Given the description of an element on the screen output the (x, y) to click on. 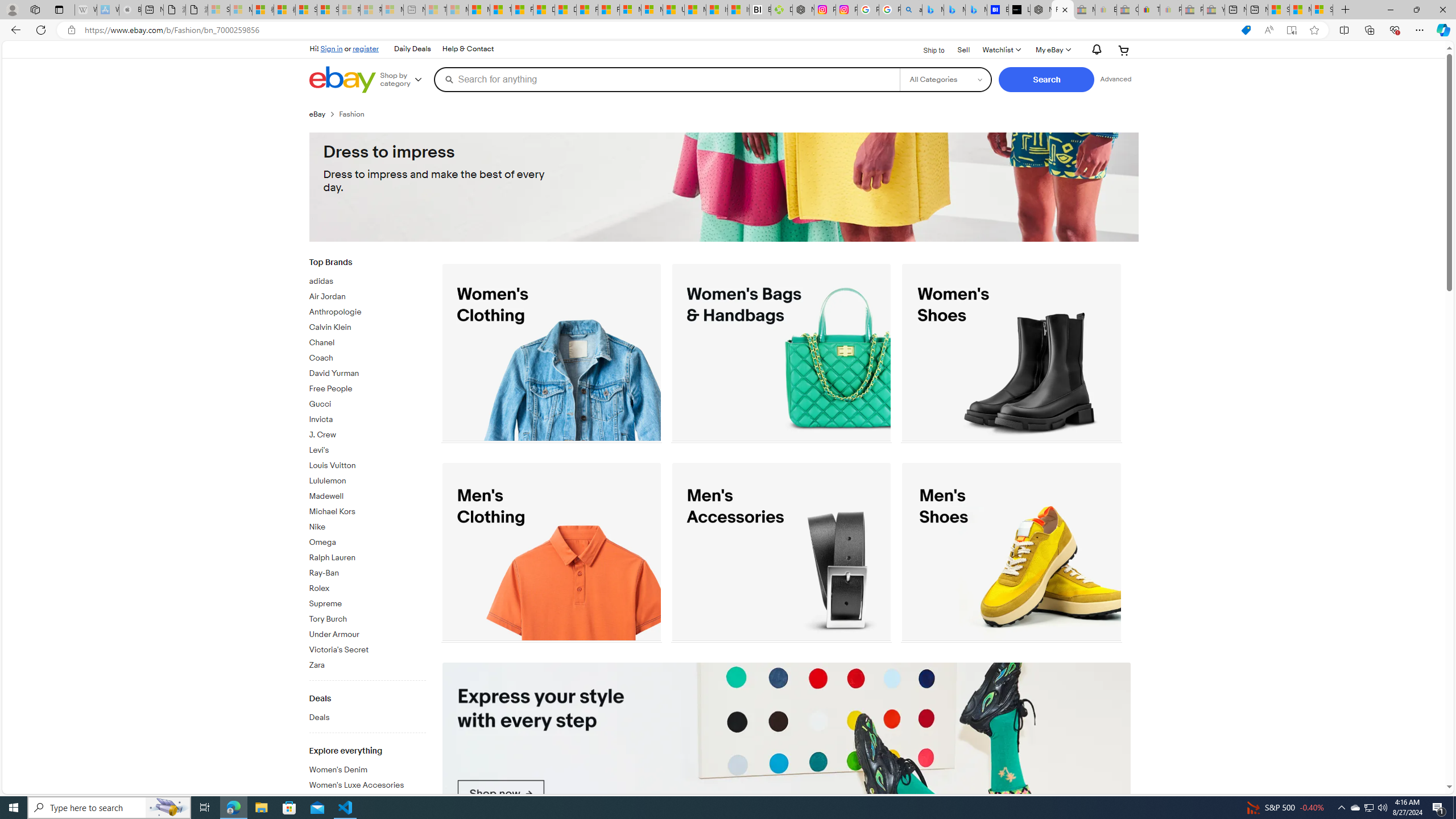
Tory Burch (367, 619)
Curvy Women's Style (367, 798)
Coach (367, 357)
Tory Burch (367, 616)
Payments Terms of Use | eBay.com - Sleeping (1170, 9)
Search for anything (666, 78)
Chanel (367, 342)
Ray-Ban (367, 573)
Ralph Lauren (367, 555)
Anthropologie (367, 312)
Michael Kors (367, 509)
